Given the description of an element on the screen output the (x, y) to click on. 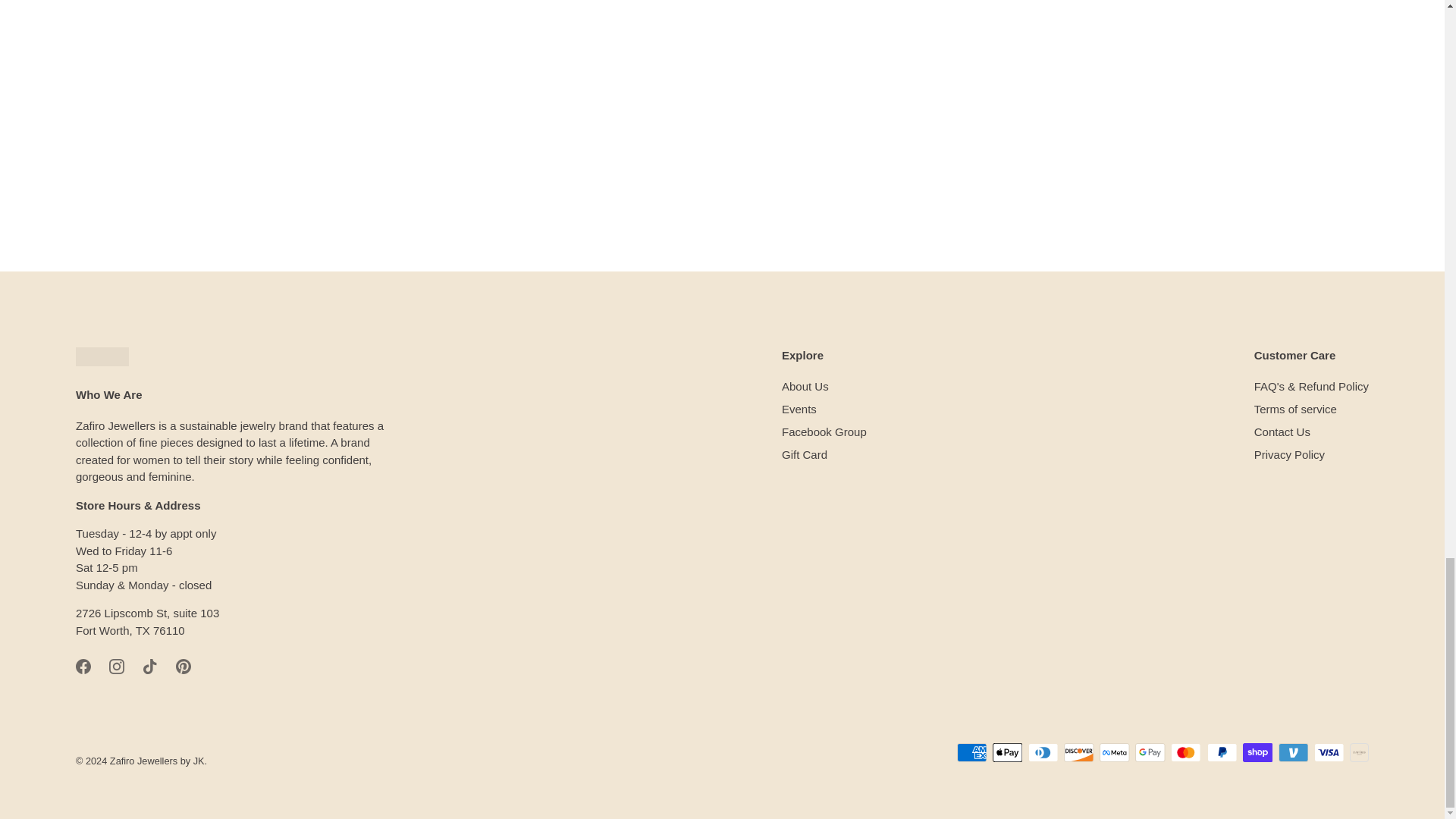
Visa (1328, 752)
Venmo (1293, 752)
Pinterest (183, 666)
Discover (1078, 752)
PayPal (1222, 752)
Instagram (116, 666)
American Express (971, 752)
Meta Pay (1114, 752)
Shop Pay (1257, 752)
Diners Club (1042, 752)
